Given the description of an element on the screen output the (x, y) to click on. 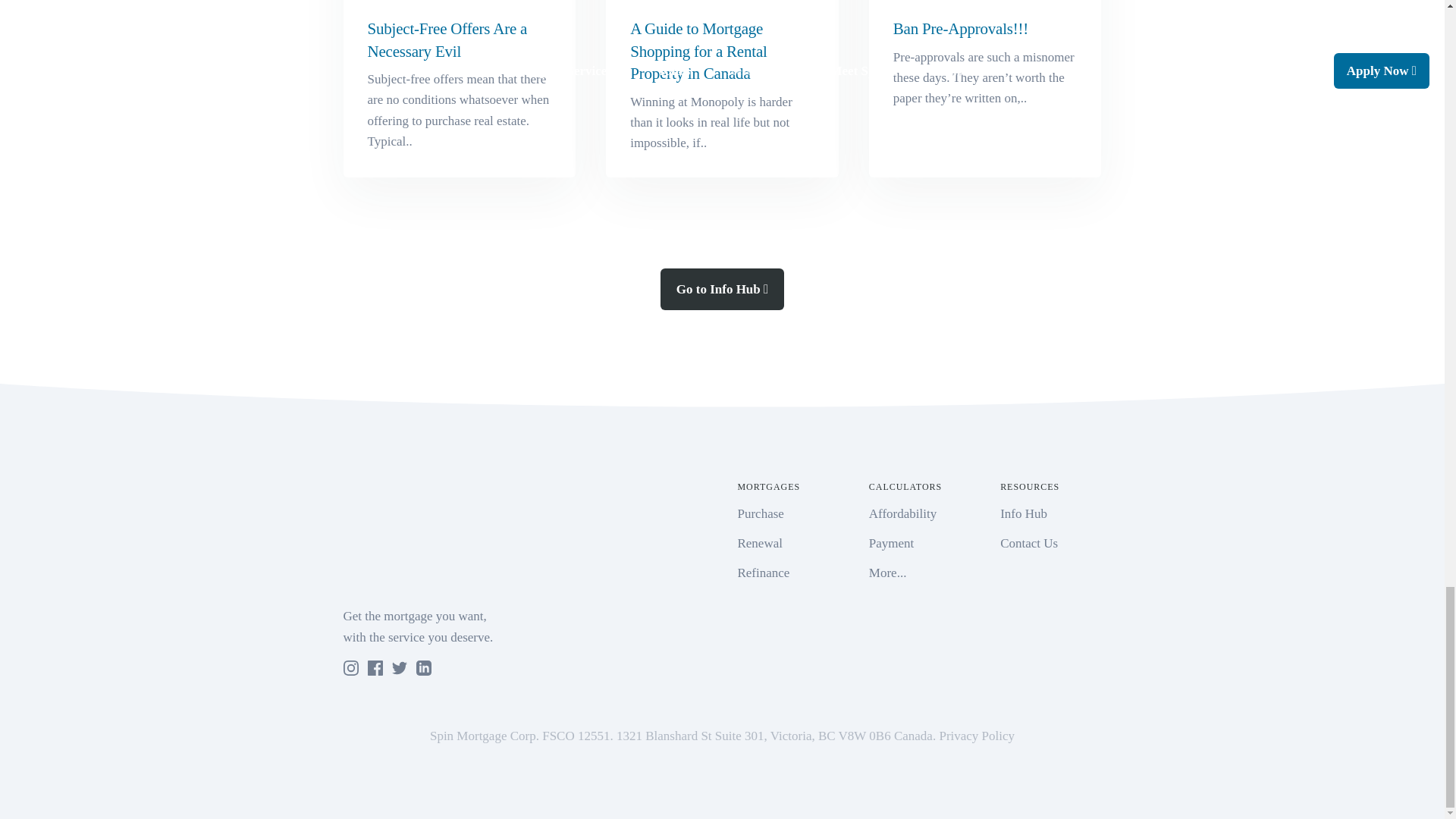
LinkedIn (423, 667)
Instagram (350, 667)
Ban Pre-Approvals!!! (985, 88)
Facebook (375, 667)
Subject-Free Offers Are a Necessary Evil (458, 88)
Twitter (399, 667)
A Guide to Mortgage Shopping for a Rental Property in Canada (721, 88)
